Given the description of an element on the screen output the (x, y) to click on. 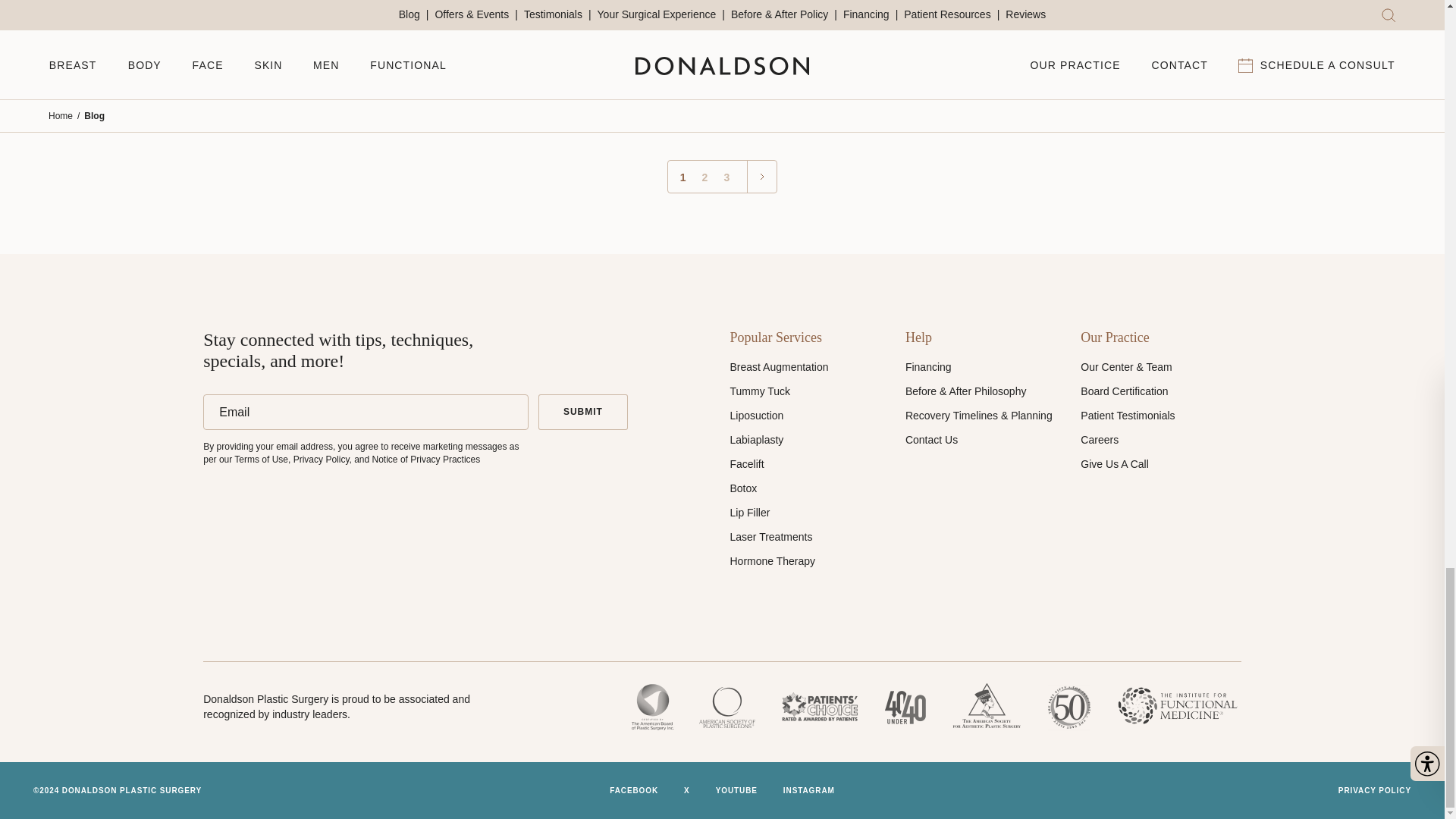
Submit (582, 411)
